Given the description of an element on the screen output the (x, y) to click on. 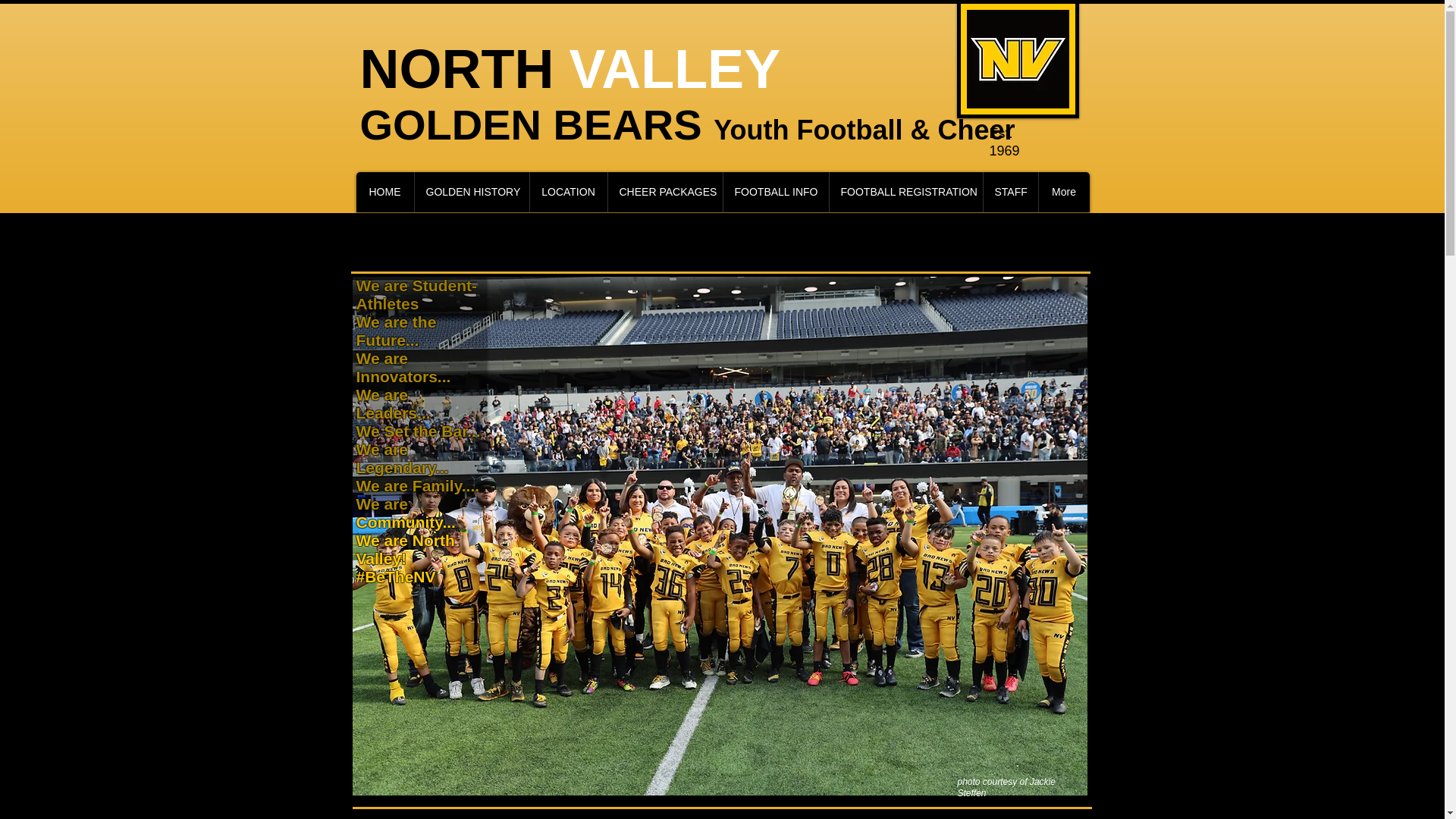
STAFF (1010, 191)
HOME (384, 191)
CHEER PACKAGES (664, 191)
GOLDEN HISTORY (471, 191)
xc-flye2012r.jpg (1017, 58)
FOOTBALL INFO (775, 191)
LOCATION (568, 191)
FOOTBALL REGISTRATION (904, 191)
